Given the description of an element on the screen output the (x, y) to click on. 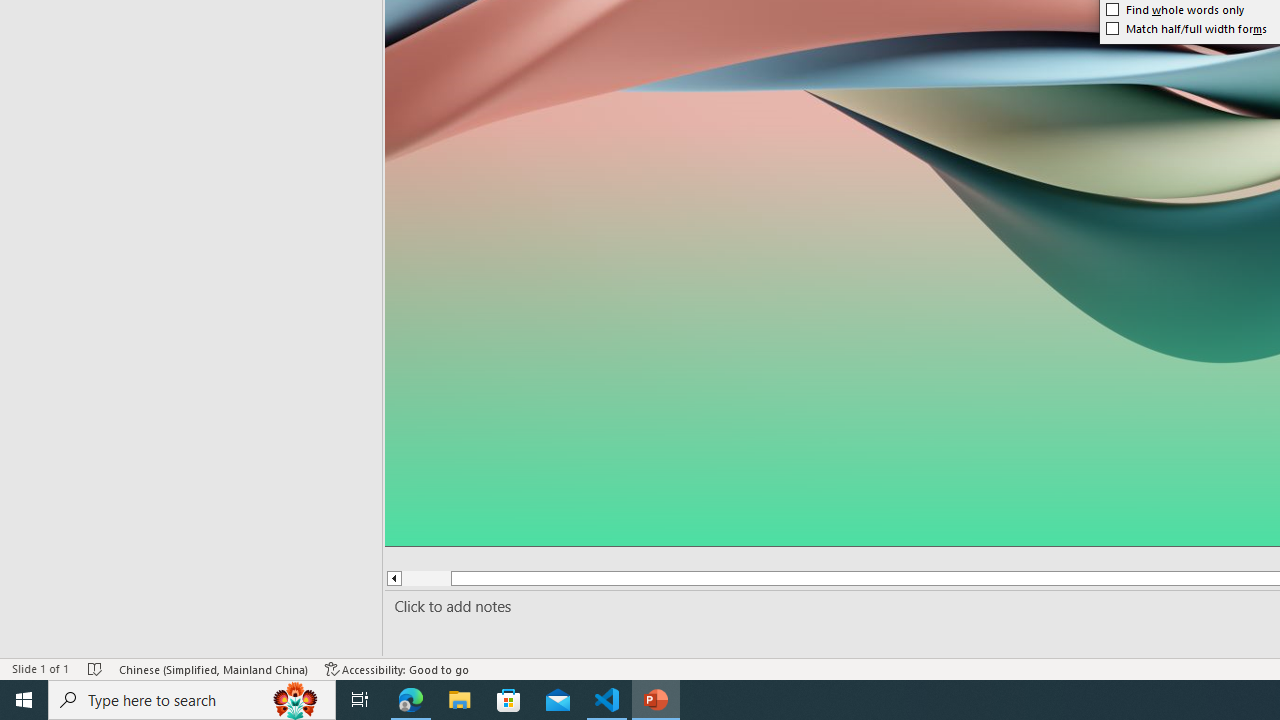
Line up (393, 578)
